Given the description of an element on the screen output the (x, y) to click on. 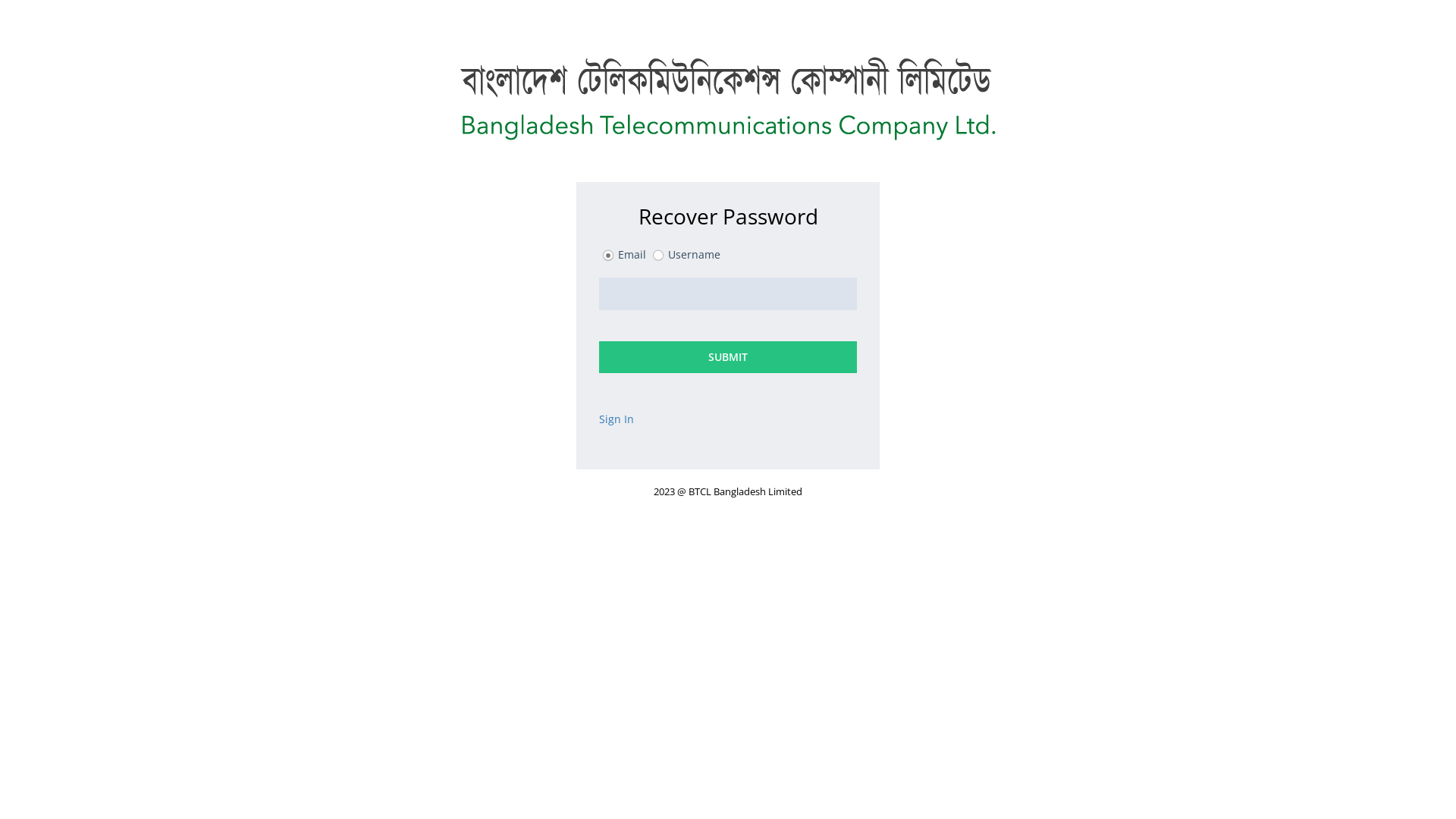
SUBMIT Element type: text (727, 357)
Sign In Element type: text (618, 418)
